Given the description of an element on the screen output the (x, y) to click on. 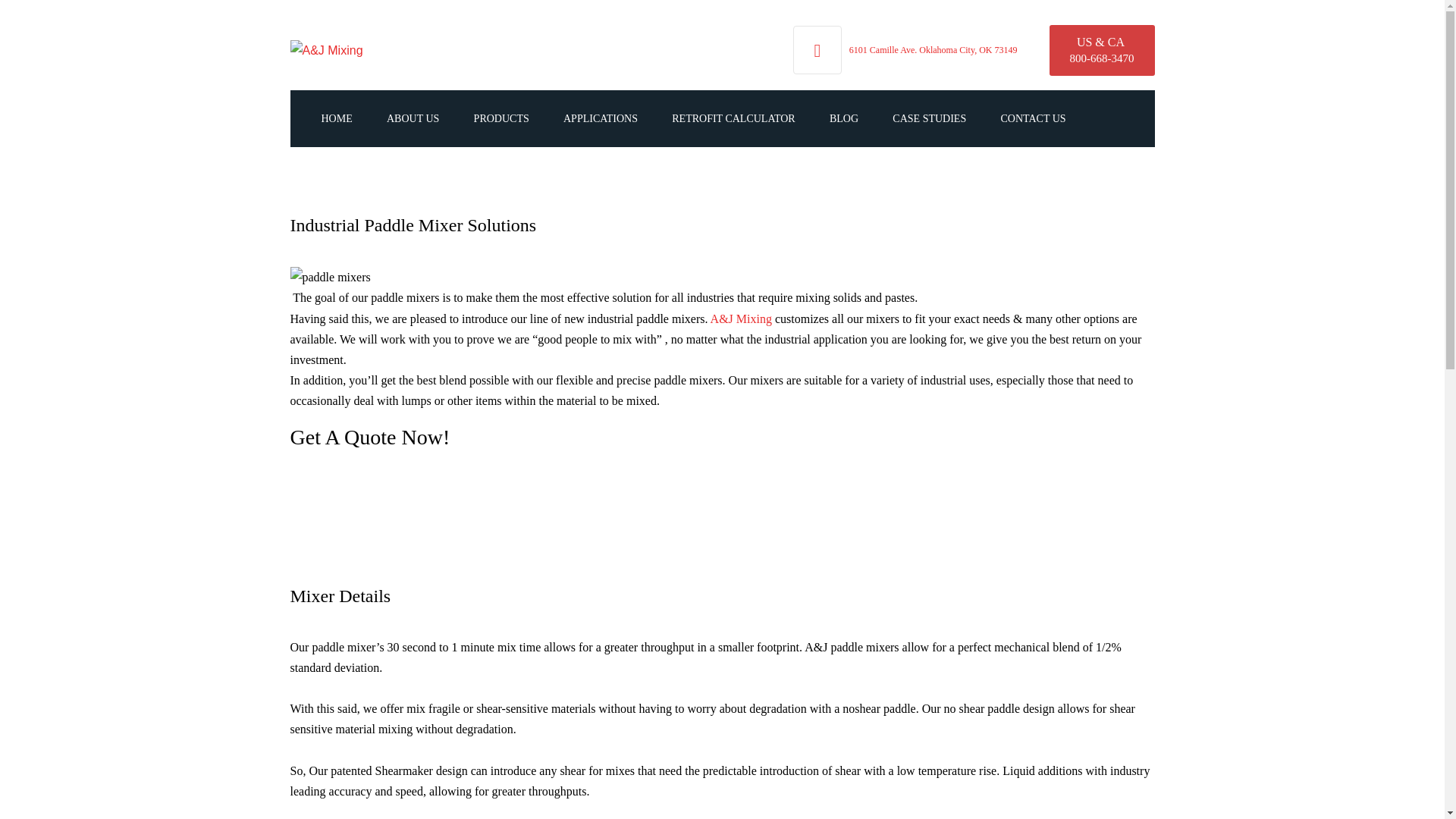
800-668-3470 (1101, 58)
CONTACT US (1032, 118)
BLOG (844, 118)
6101 Camille Ave. Oklahoma City, OK 73149 (932, 50)
PRODUCTS (501, 118)
HOME (336, 118)
RETROFIT CALCULATOR (733, 118)
ABOUT US (412, 118)
CASE STUDIES (928, 118)
APPLICATIONS (600, 118)
Form 0 (721, 513)
